Given the description of an element on the screen output the (x, y) to click on. 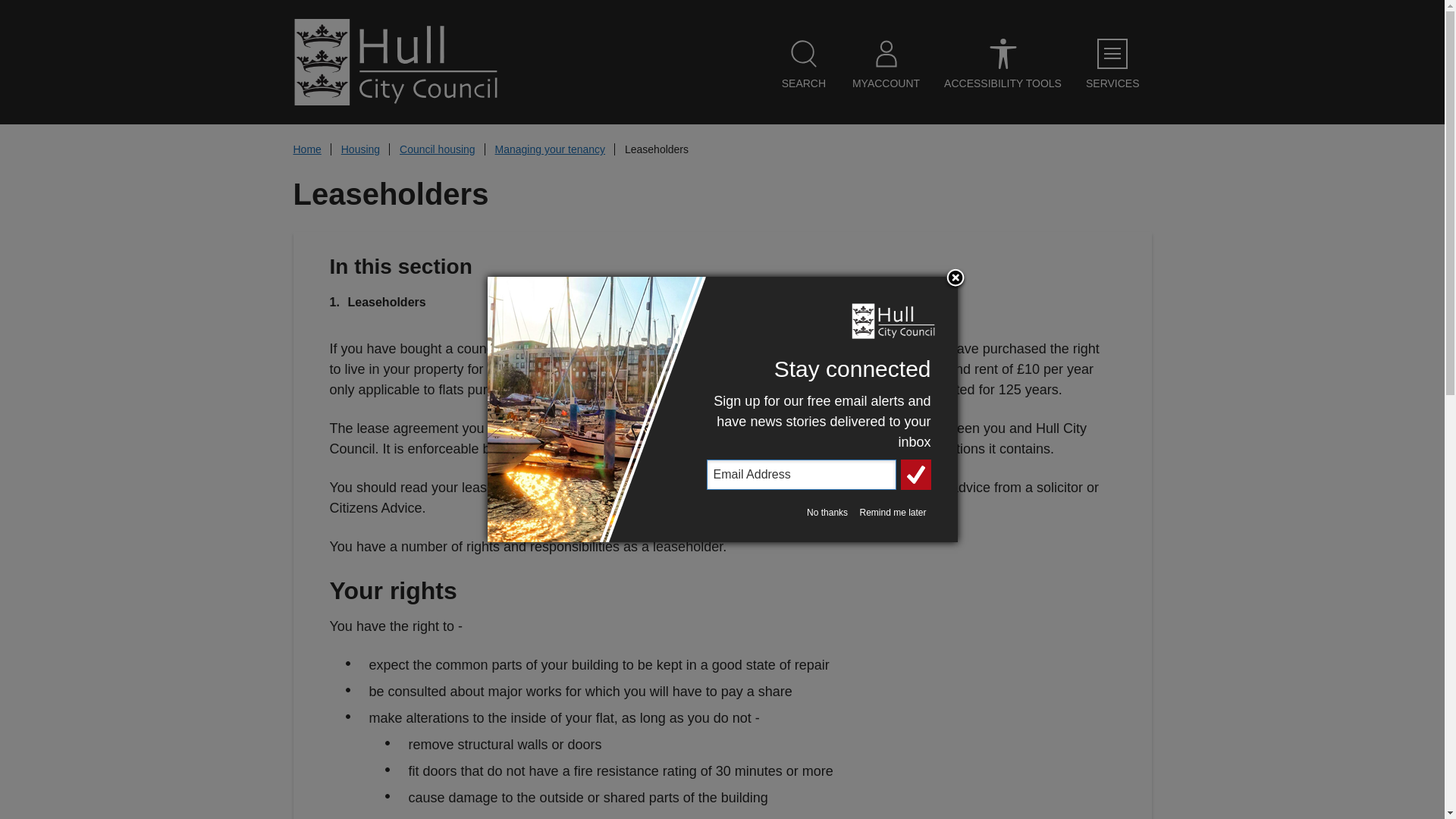
ACCESSIBILITY TOOLS (1002, 64)
Listen and translate with ReciteMe (1002, 64)
Managing your tenancy (550, 149)
Housing (360, 149)
Home (306, 149)
Subscribe (916, 474)
Our rights and responsibilities (825, 301)
Email Address (801, 474)
Council housing (437, 149)
